Given the description of an element on the screen output the (x, y) to click on. 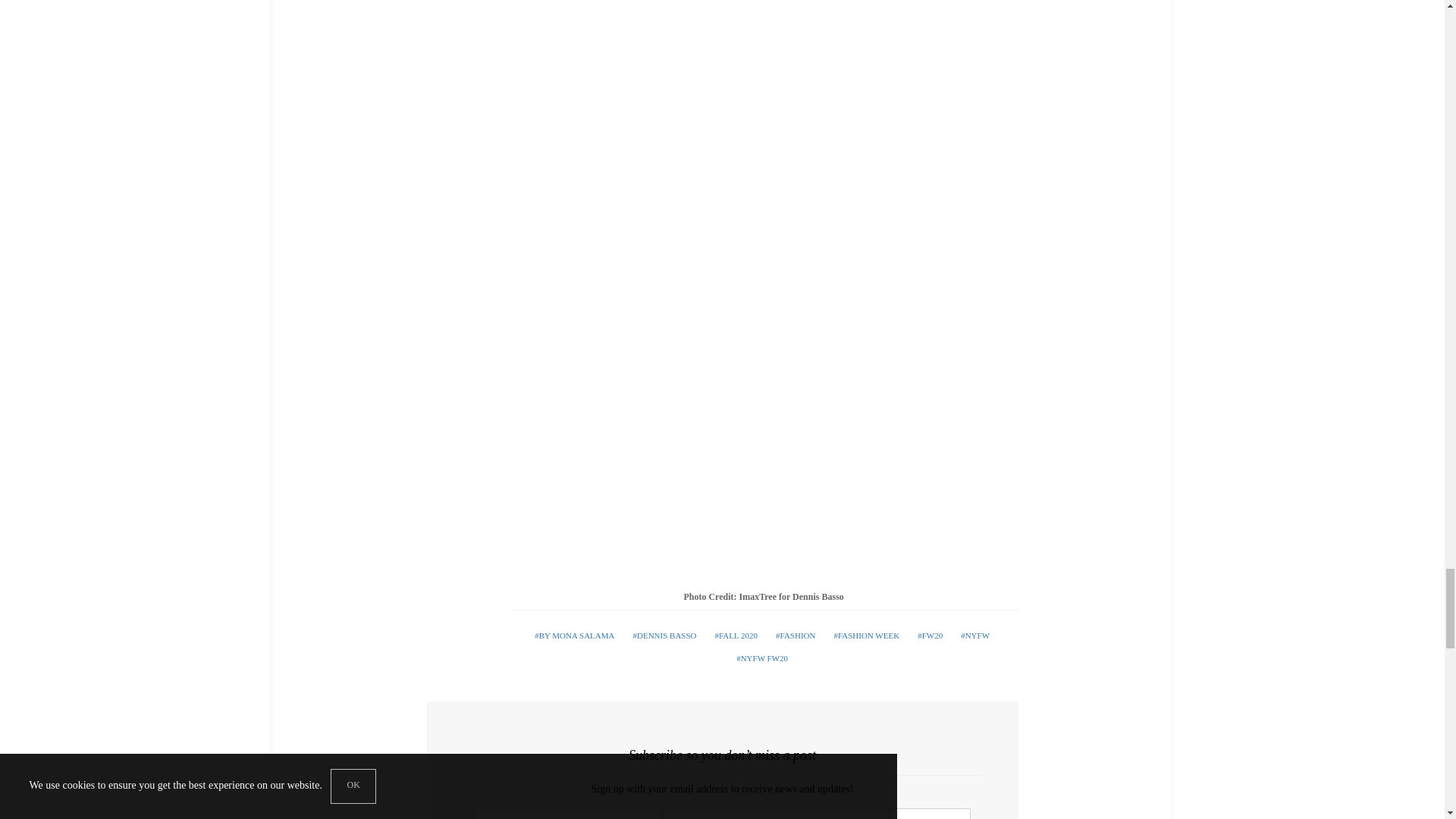
Subscribe (930, 813)
